Given the description of an element on the screen output the (x, y) to click on. 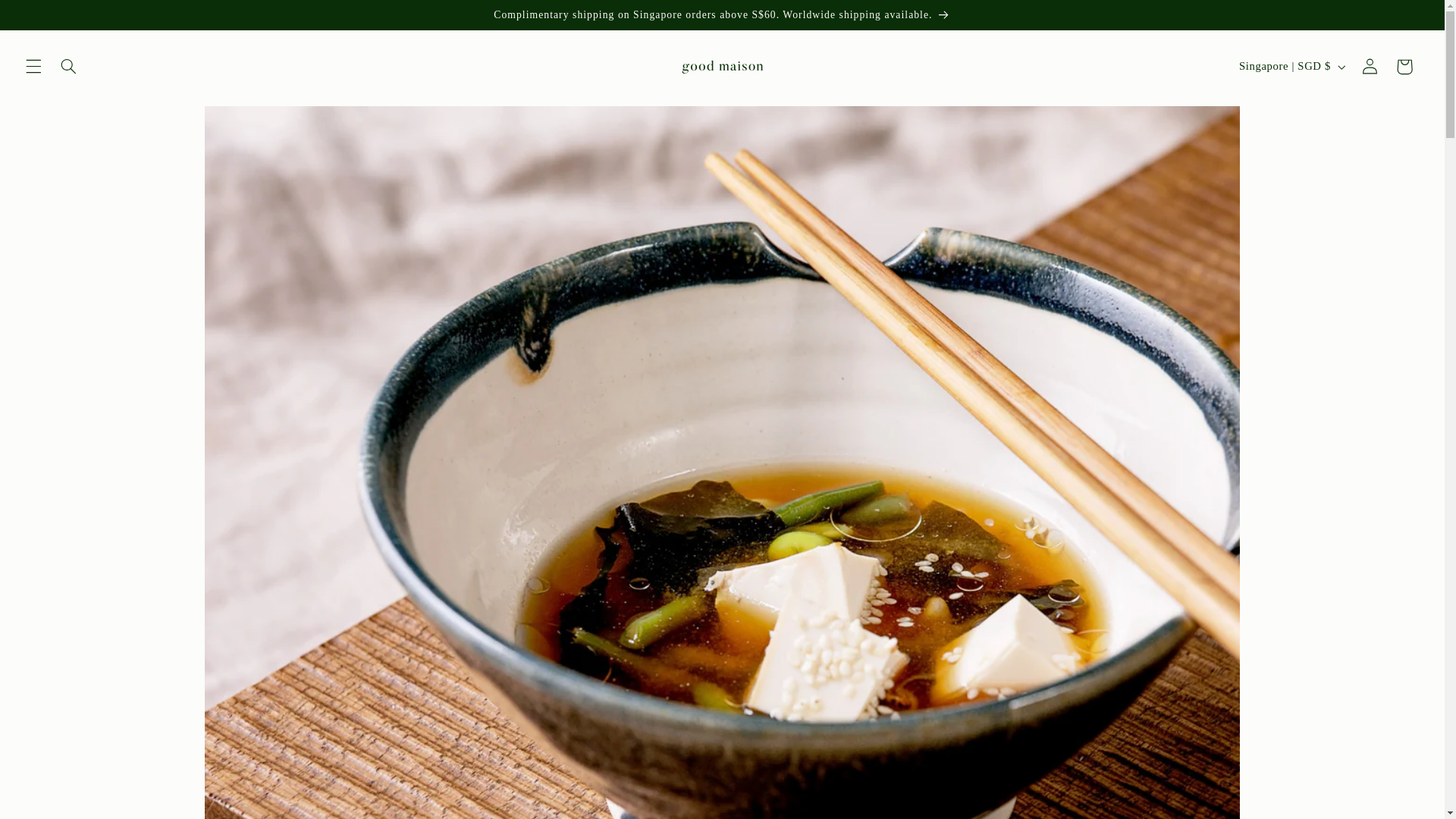
Log in (1369, 66)
Cart (1404, 66)
Skip to content (48, 18)
